Given the description of an element on the screen output the (x, y) to click on. 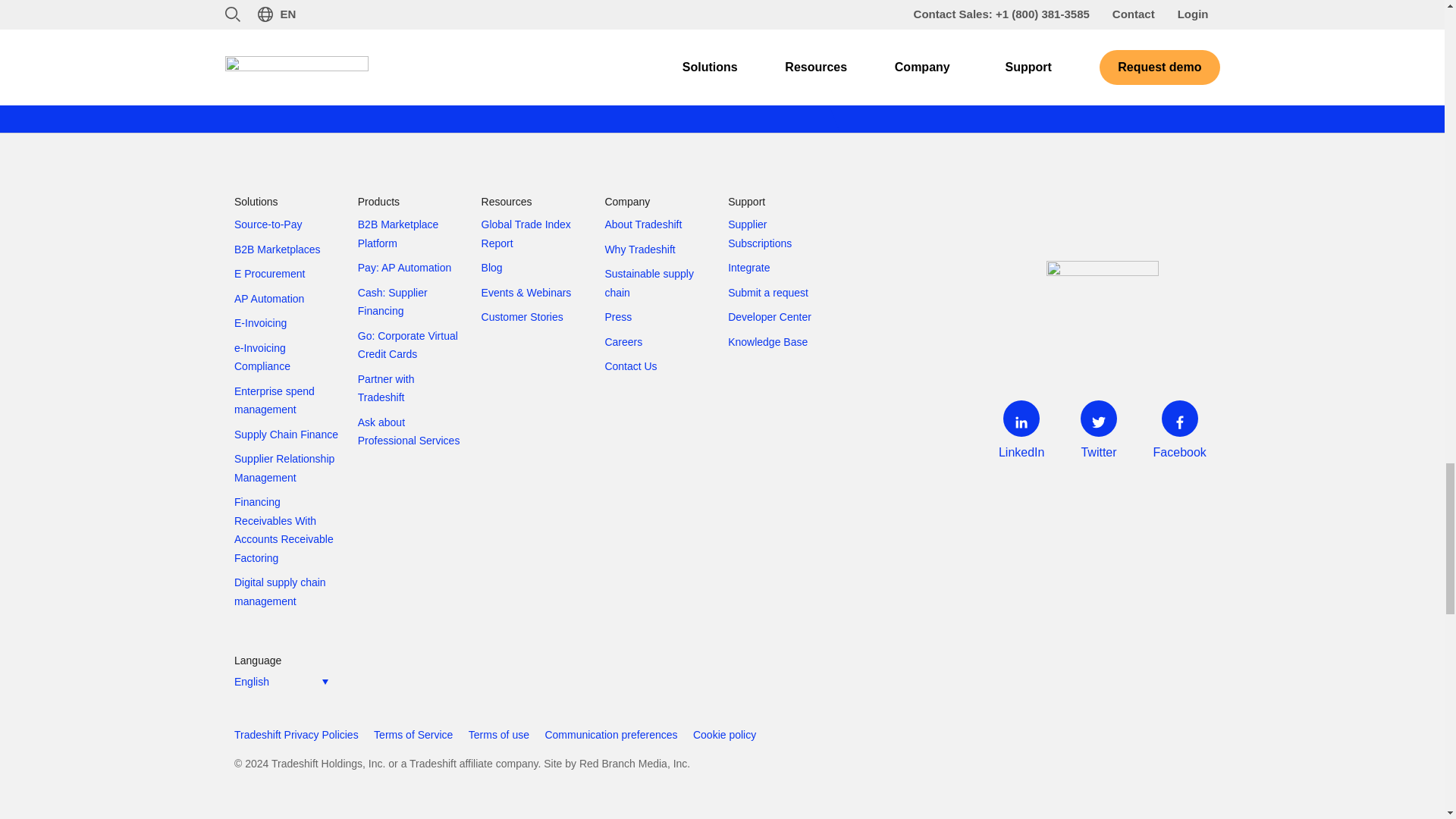
Facebook (1179, 434)
Twitter (1098, 434)
LinkedIn (1020, 434)
